Given the description of an element on the screen output the (x, y) to click on. 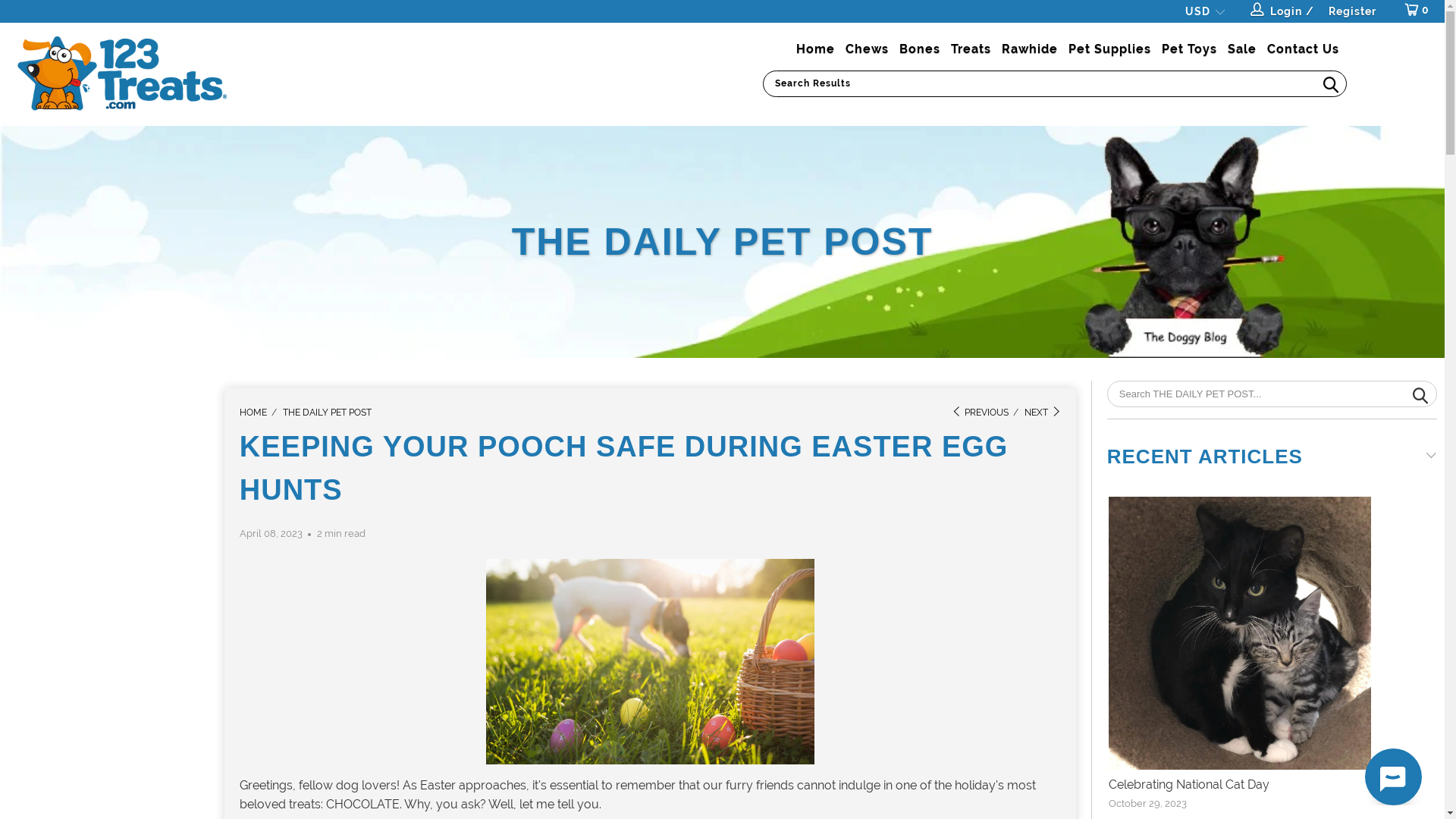
Sale Element type: text (1241, 49)
Bones Element type: text (919, 49)
Pet Toys Element type: text (1189, 49)
Celebrating National Cat Day Element type: text (1239, 644)
Rawhide Element type: text (1029, 49)
Chews Element type: text (866, 49)
Pet Supplies Element type: text (1109, 49)
Contact Us Element type: text (1303, 49)
PREVIOUS Element type: text (979, 412)
THE DAILY PET POST Element type: text (326, 412)
Treats Element type: text (970, 49)
Home Element type: text (815, 49)
HOME Element type: text (252, 412)
123treats Element type: hover (123, 77)
NEXT Element type: text (1042, 412)
